Given the description of an element on the screen output the (x, y) to click on. 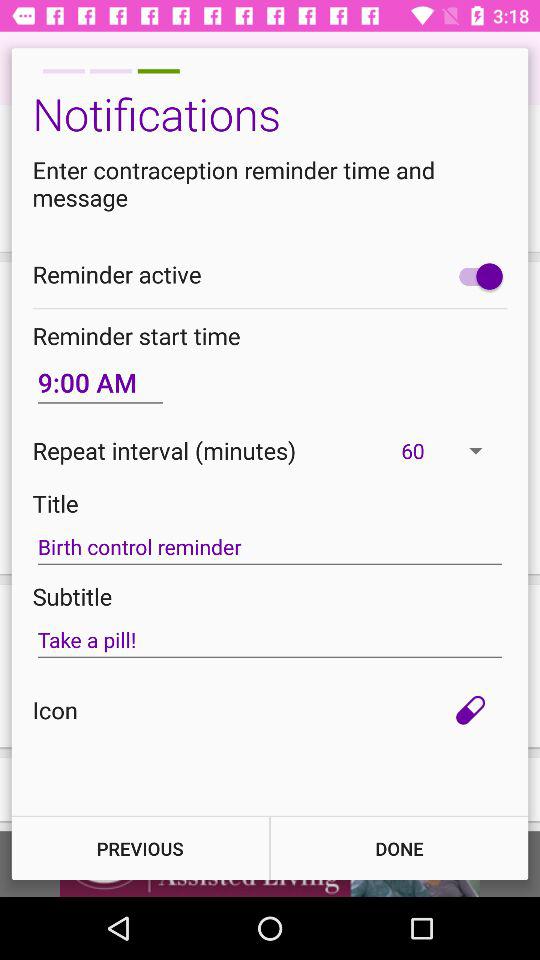
scroll until the birth control reminder (269, 547)
